Given the description of an element on the screen output the (x, y) to click on. 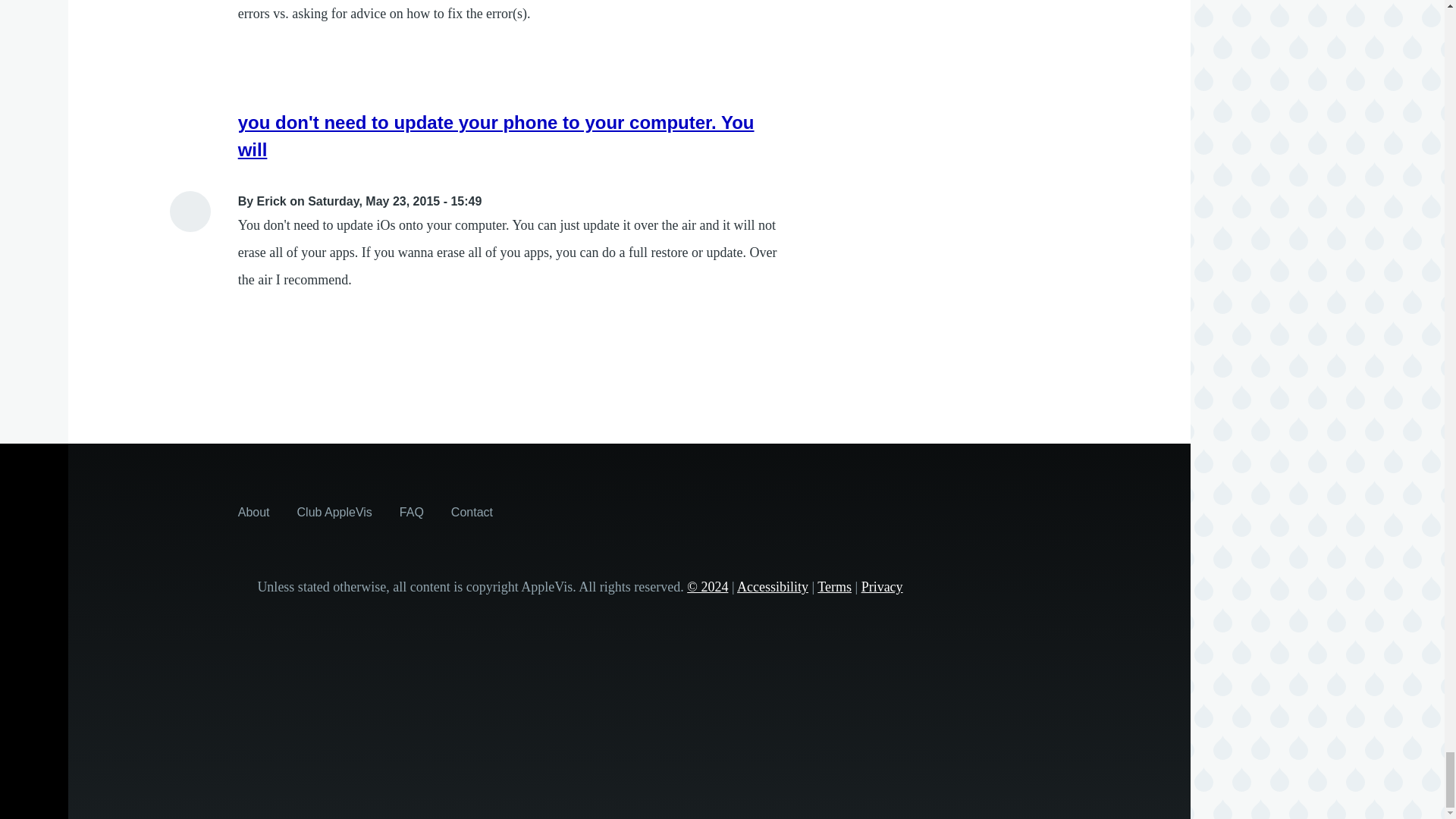
About (253, 511)
Answers to some frequently asked questions about AppleVis (410, 511)
